Given the description of an element on the screen output the (x, y) to click on. 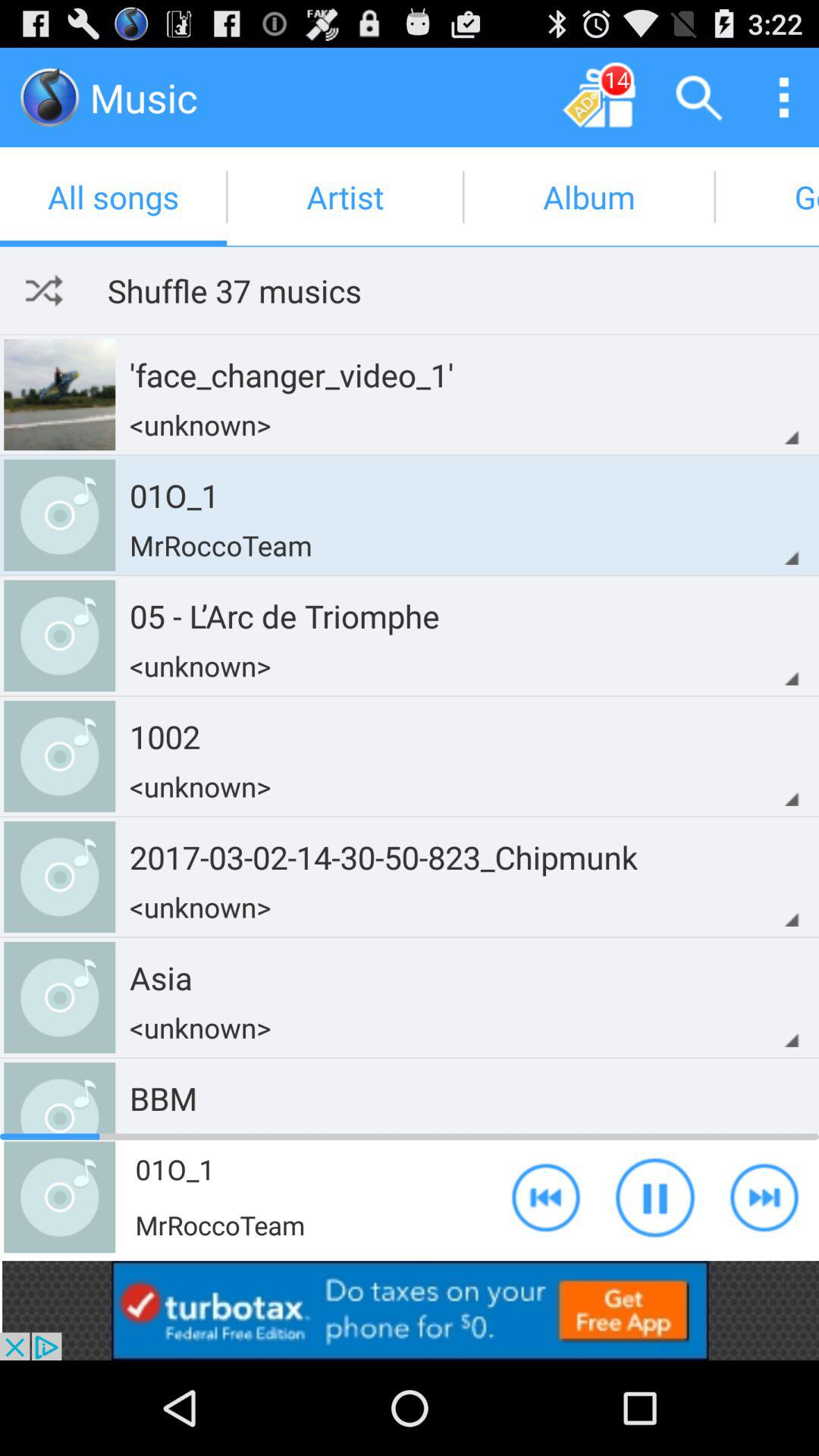
pause track (654, 1196)
